Given the description of an element on the screen output the (x, y) to click on. 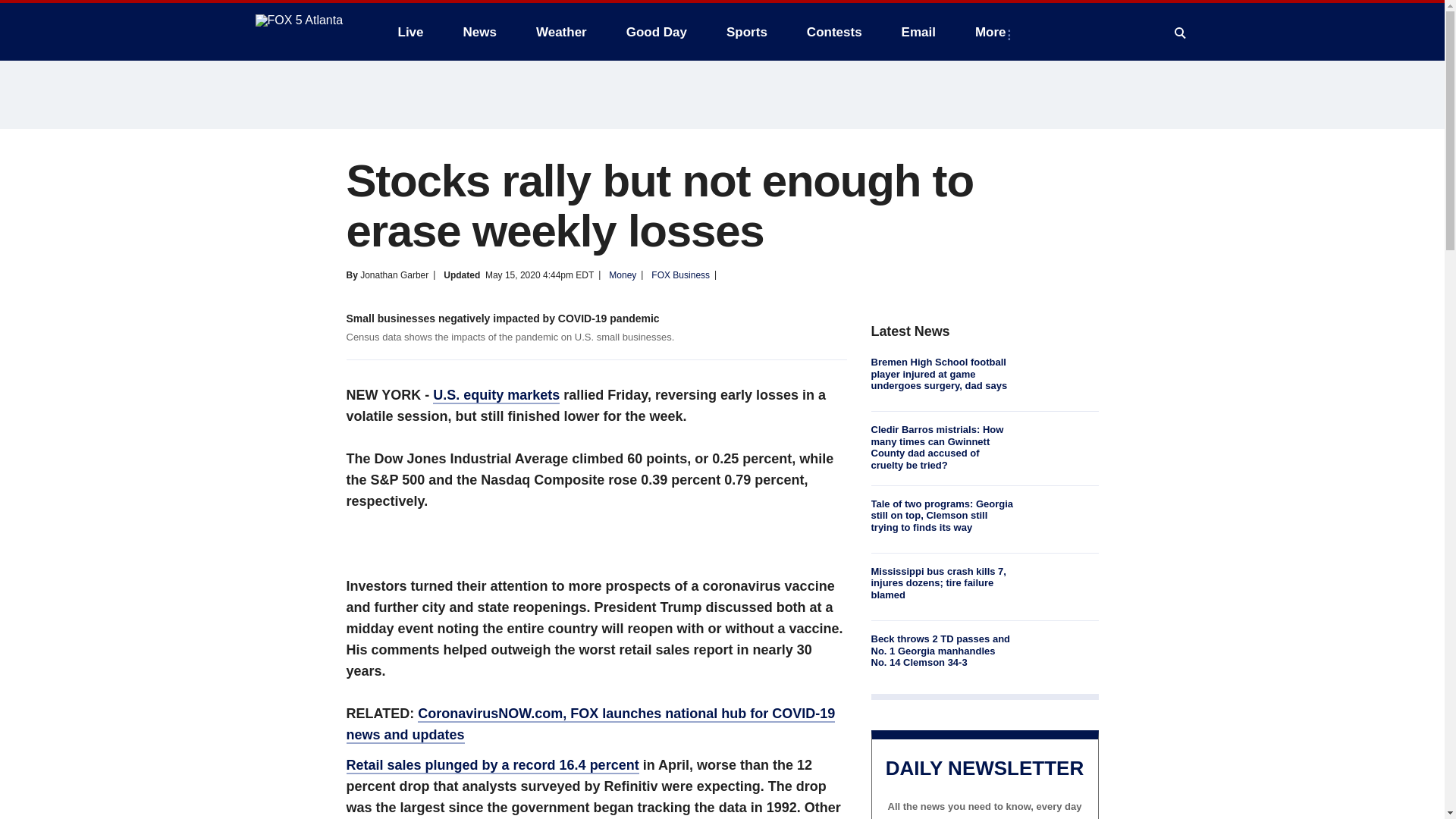
Weather (561, 32)
Sports (746, 32)
More (993, 32)
Email (918, 32)
Live (410, 32)
Good Day (656, 32)
Contests (834, 32)
News (479, 32)
